Given the description of an element on the screen output the (x, y) to click on. 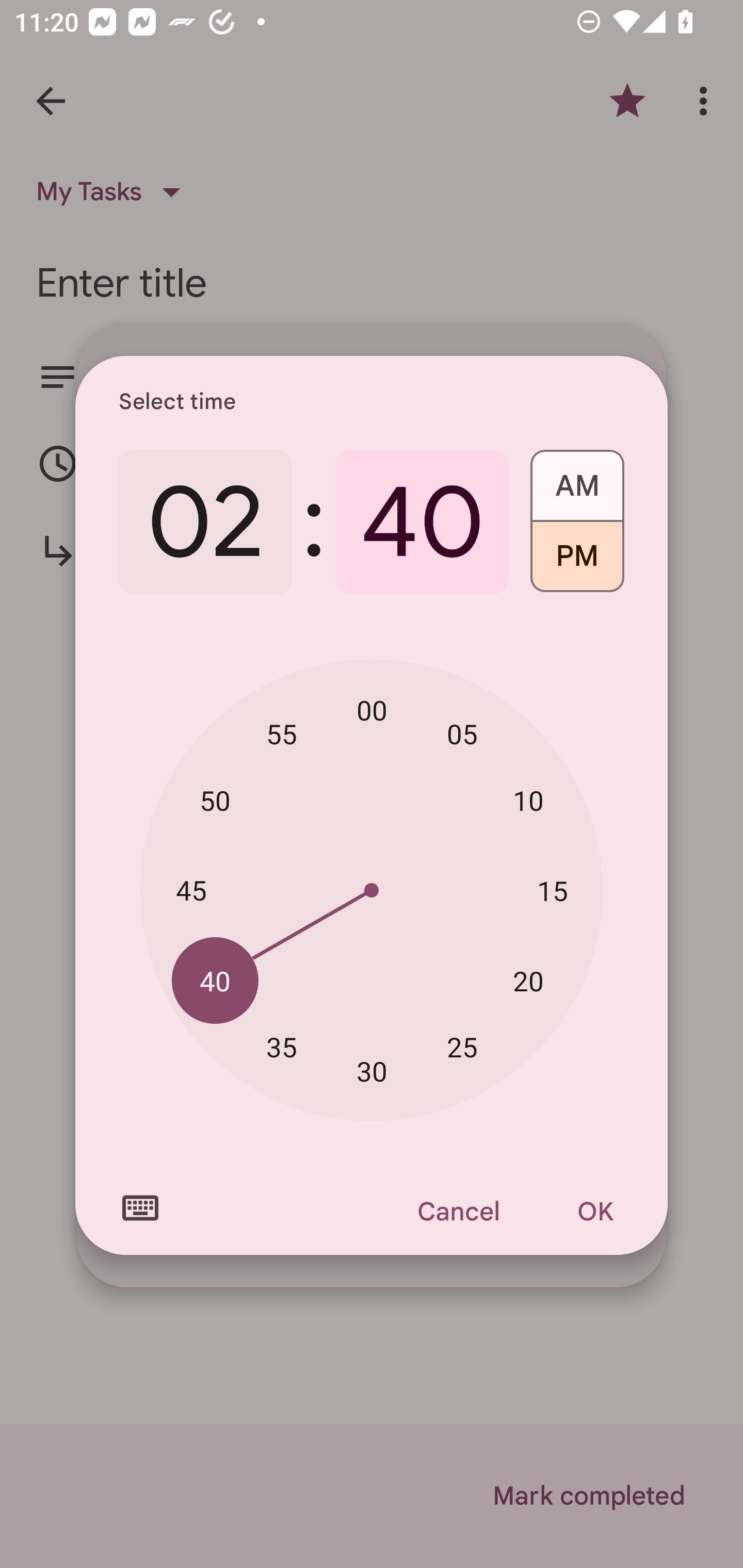
AM (577, 478)
02 2 o'clock (204, 522)
40 40 minutes (421, 522)
PM (577, 563)
00 00 minutes (371, 710)
55 55 minutes (281, 733)
05 05 minutes (462, 733)
50 50 minutes (214, 800)
10 10 minutes (528, 800)
45 45 minutes (190, 889)
15 15 minutes (551, 890)
40 40 minutes (214, 980)
20 20 minutes (528, 980)
35 35 minutes (281, 1046)
25 25 minutes (462, 1046)
30 30 minutes (371, 1071)
Switch to text input mode for the time input. (140, 1208)
Cancel (458, 1211)
OK (595, 1211)
